Given the description of an element on the screen output the (x, y) to click on. 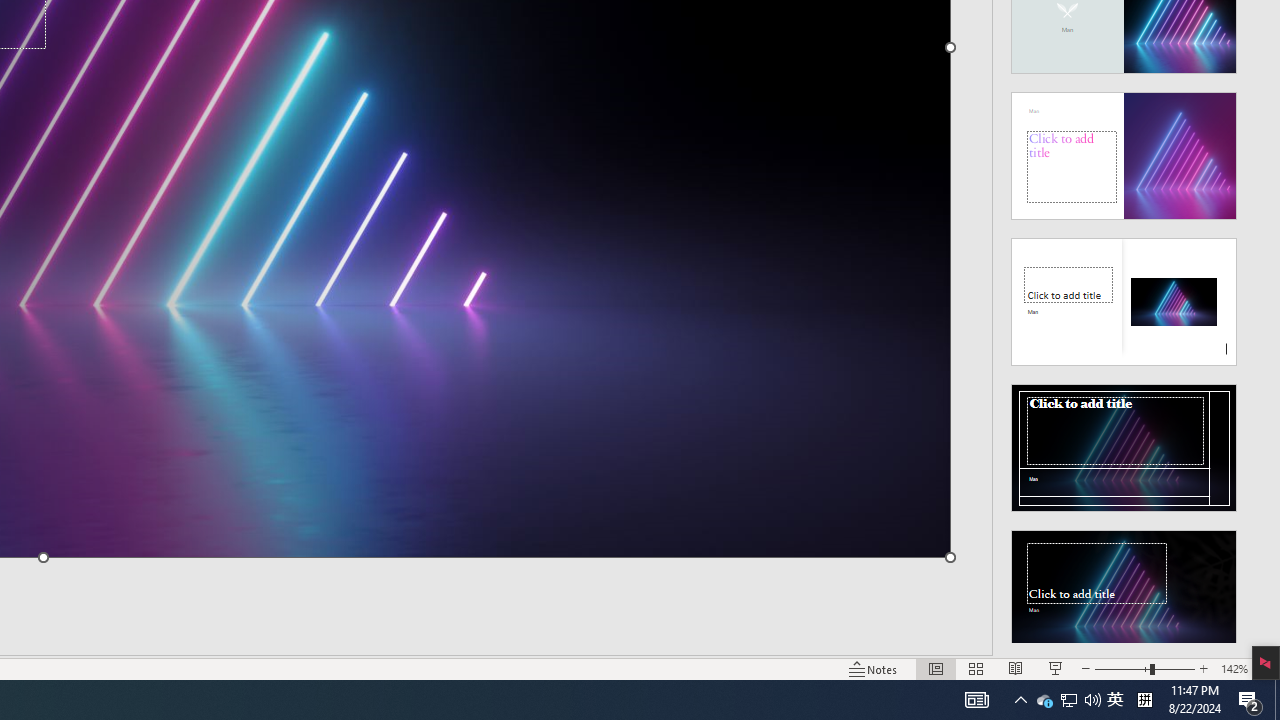
Zoom In (1204, 668)
Notes  (874, 668)
Zoom 142% (1234, 668)
Tray Input Indicator - Chinese (Simplified, China) (1144, 699)
Action Center, 2 new notifications (1250, 699)
Show desktop (1277, 699)
Reading View (1015, 668)
Design Idea (1124, 587)
